Given the description of an element on the screen output the (x, y) to click on. 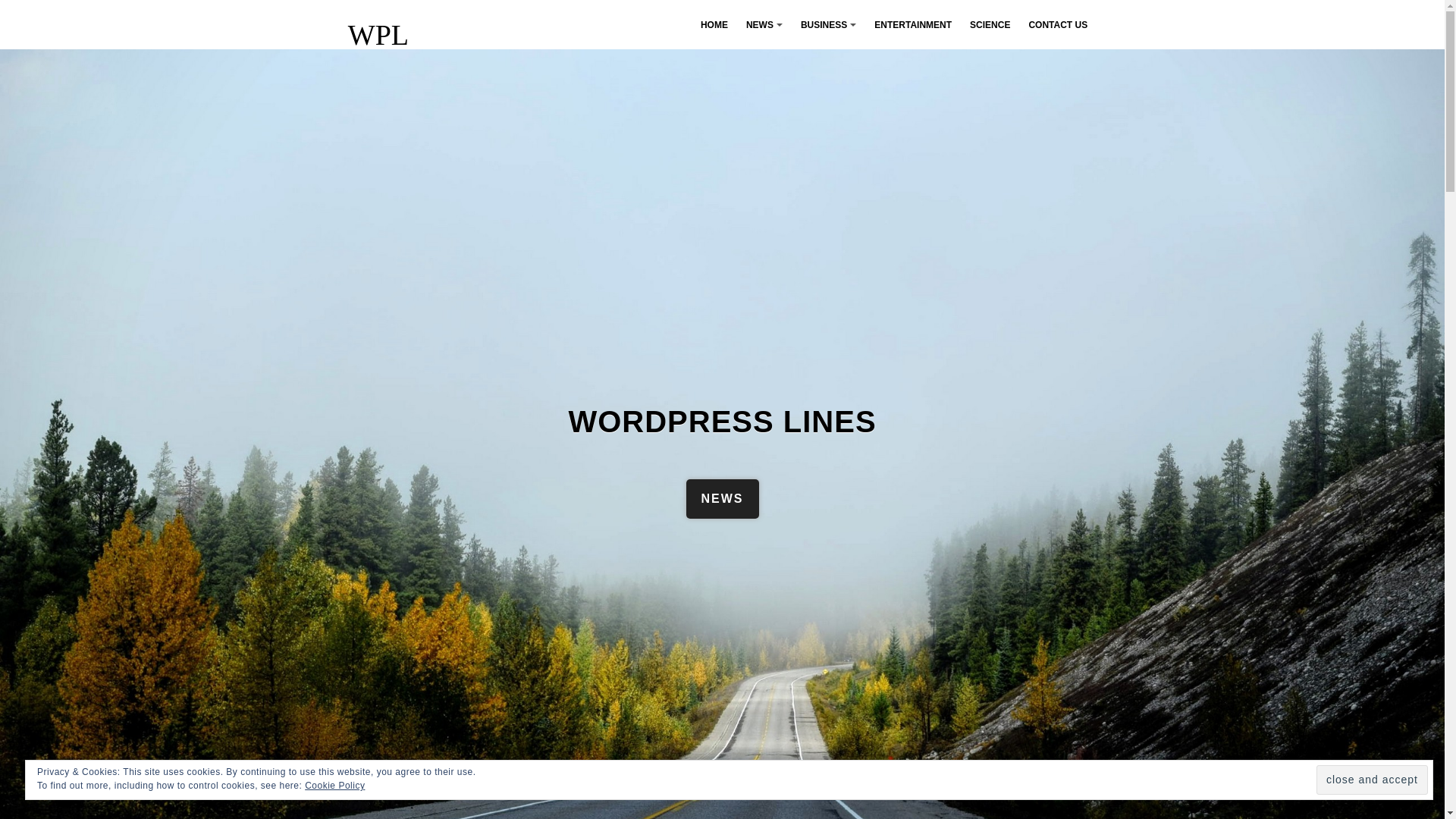
CONTACT US (1057, 24)
ENTERTAINMENT (912, 24)
SCIENCE (989, 24)
close and accept (1372, 779)
WPL (378, 34)
NEWS (721, 498)
HOME (713, 24)
